Given the description of an element on the screen output the (x, y) to click on. 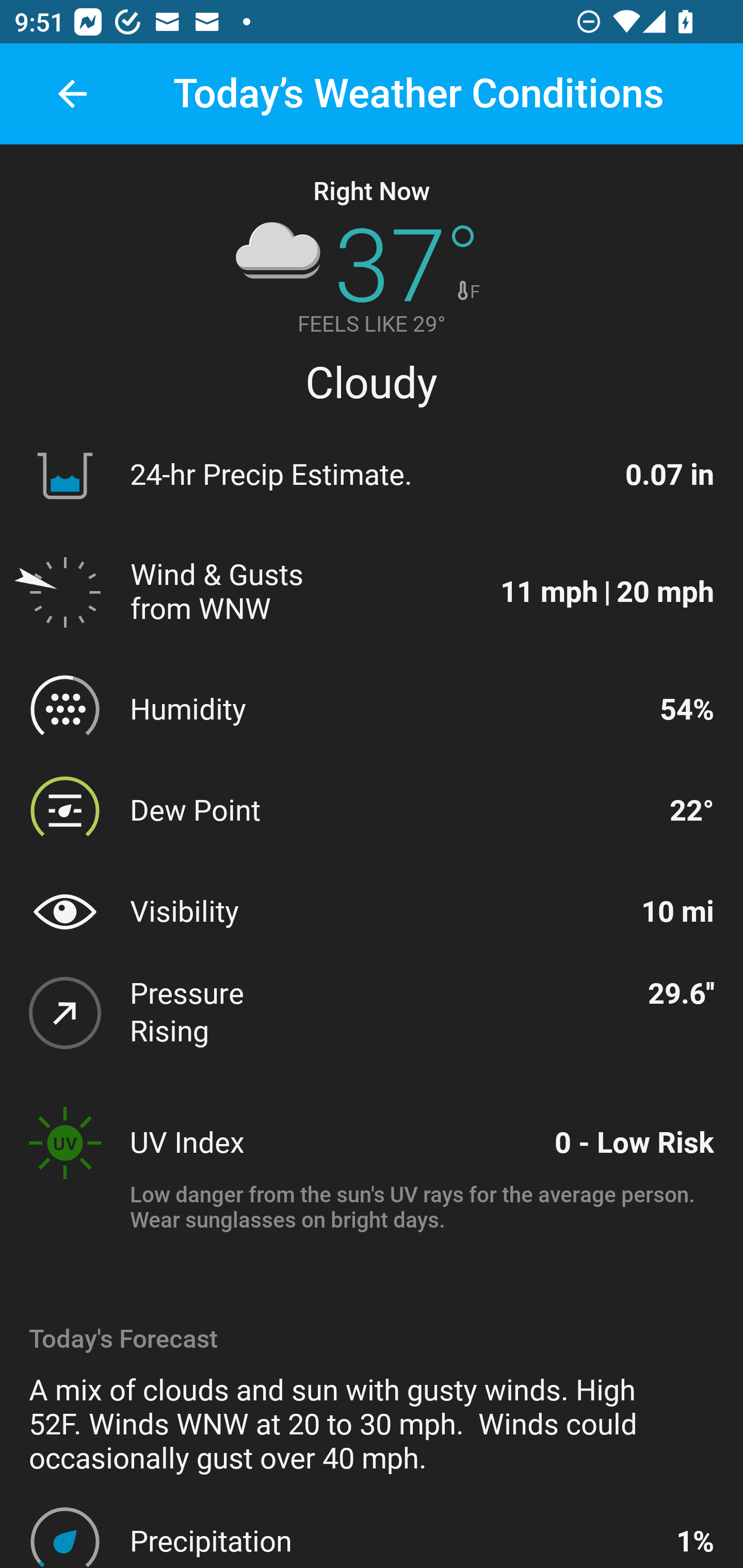
back (71, 93)
Precipitation (394, 1541)
1% (695, 1541)
